Given the description of an element on the screen output the (x, y) to click on. 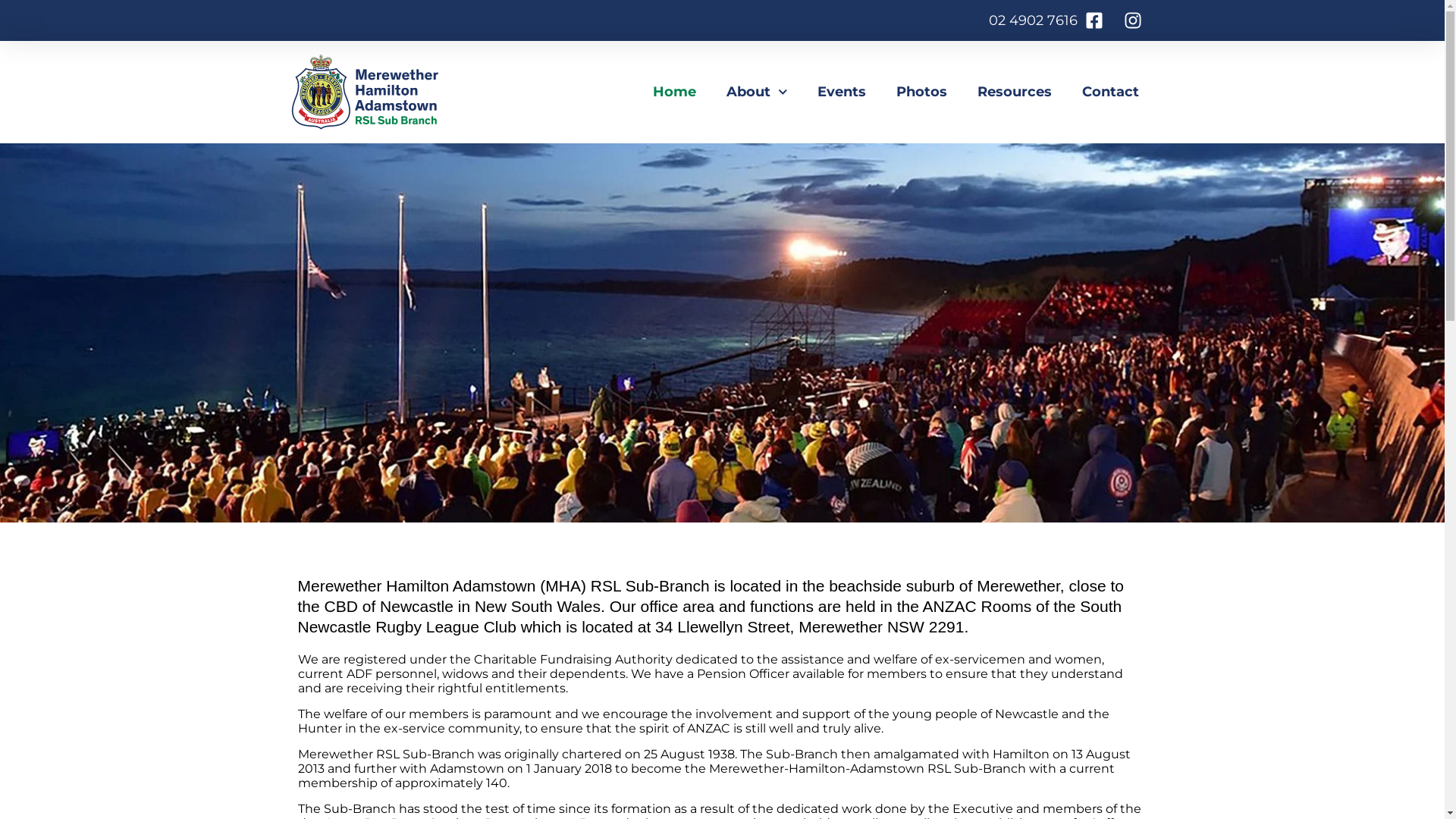
02 4902 7616 Element type: text (1032, 20)
Contact Element type: text (1110, 91)
Resources Element type: text (1014, 91)
Home Element type: text (674, 91)
Events Element type: text (841, 91)
Photos Element type: text (921, 91)
About Element type: text (757, 91)
